Given the description of an element on the screen output the (x, y) to click on. 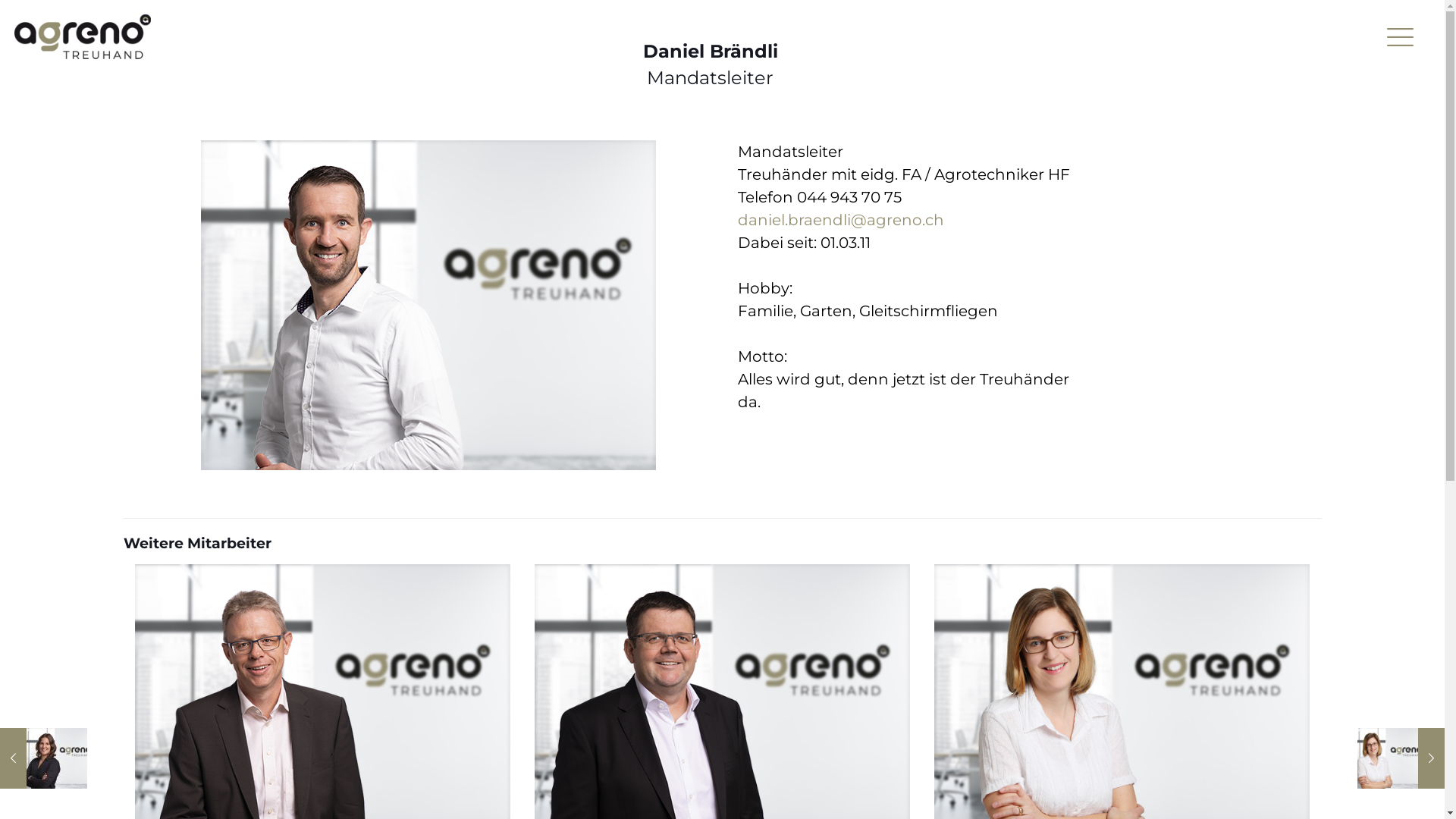
daniel.braendli@agreno.ch Element type: text (840, 219)
Agreno Treuhand AG Element type: hover (82, 34)
